Given the description of an element on the screen output the (x, y) to click on. 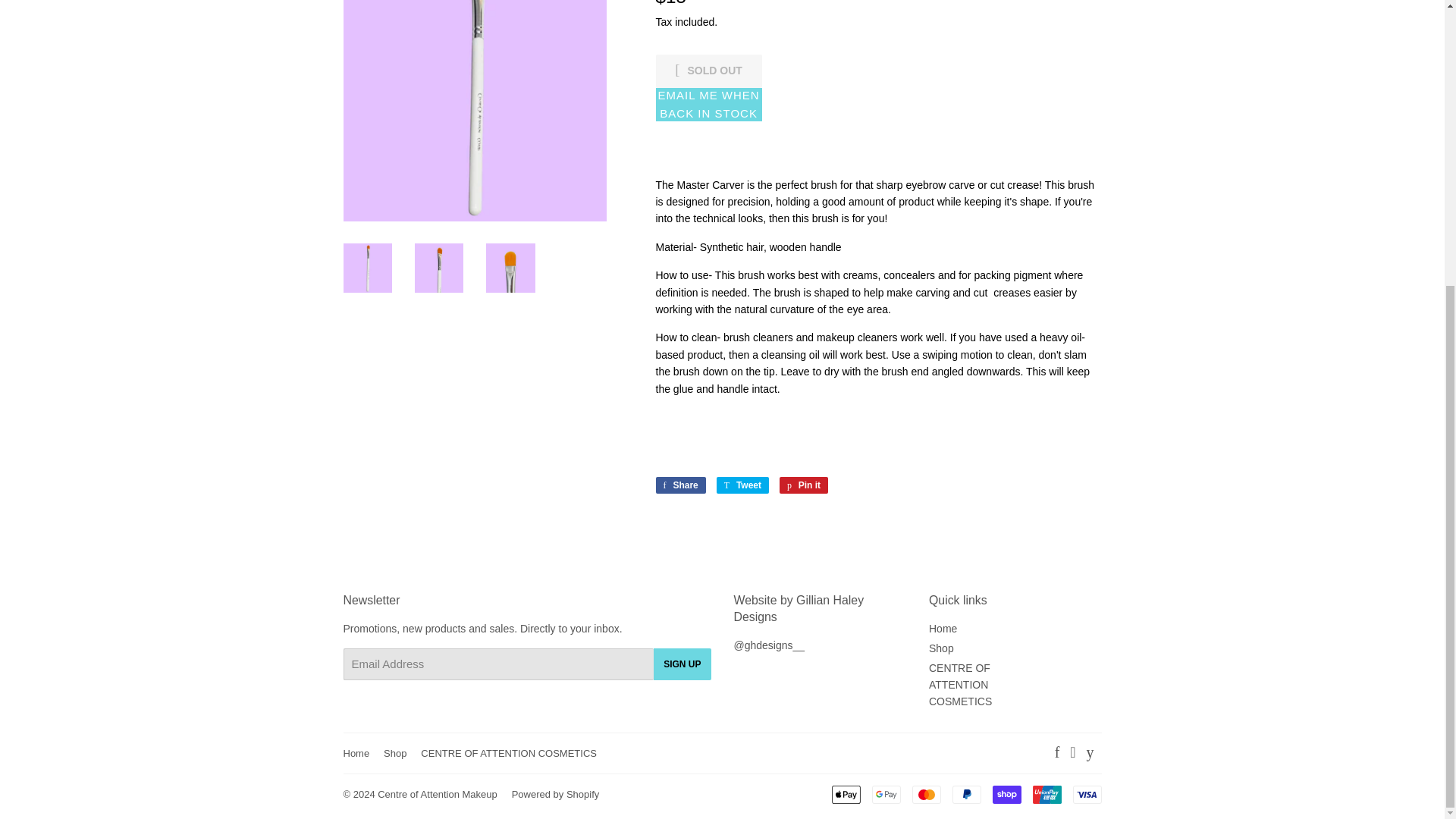
Google Pay (886, 794)
Mastercard (925, 794)
Share on Facebook (679, 484)
Visa (1085, 794)
Tweet on Twitter (742, 484)
Apple Pay (845, 794)
Union Pay (1046, 794)
PayPal (966, 794)
Shop Pay (1005, 794)
Pin on Pinterest (803, 484)
